Given the description of an element on the screen output the (x, y) to click on. 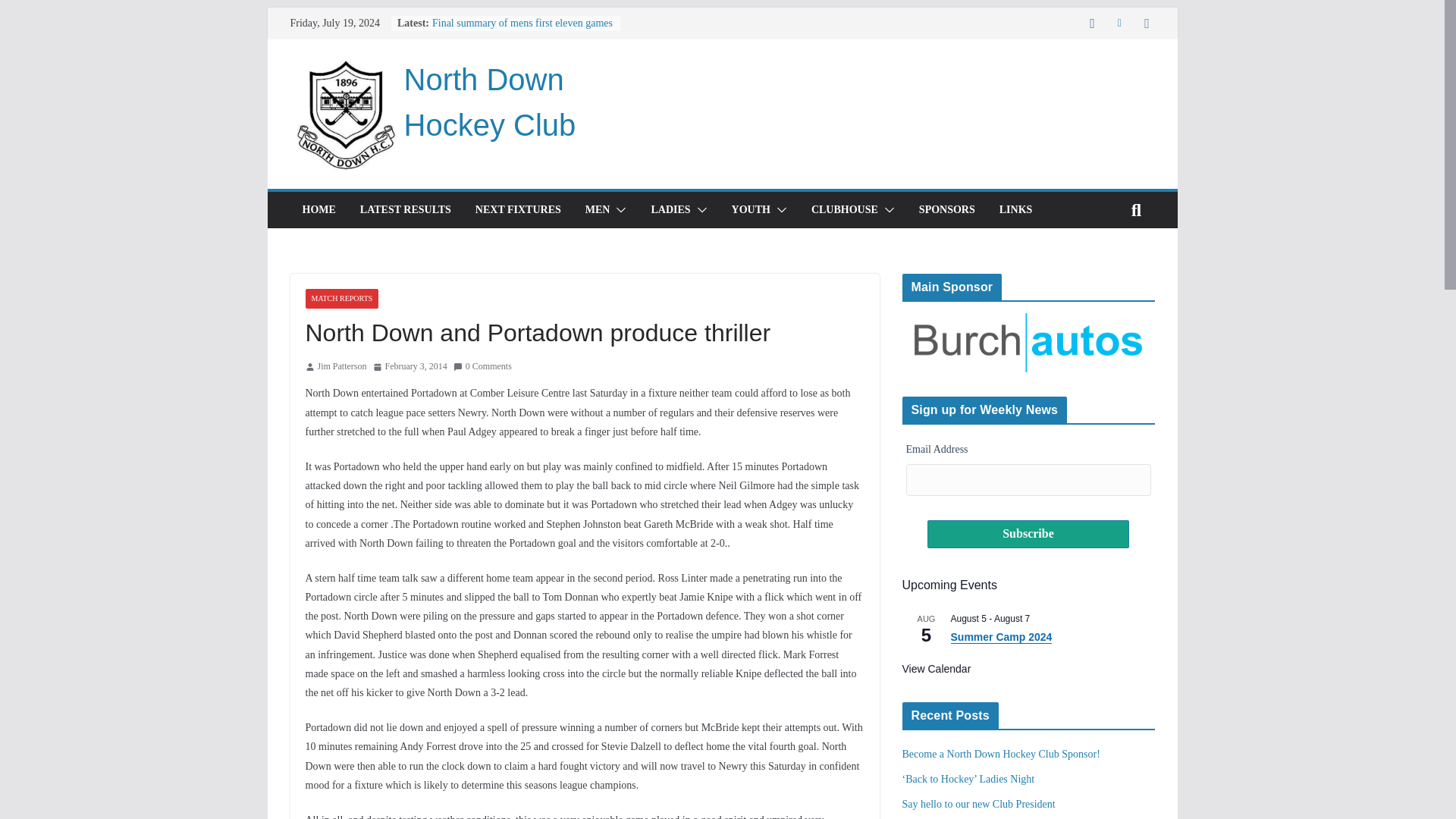
YOUTH (751, 209)
CLUBHOUSE (843, 209)
Summer Camp 2024 (1001, 636)
LATEST RESULTS (405, 209)
Subscribe (1028, 533)
HOME (317, 209)
Final summary of mens first eleven games (522, 22)
Final summary of mens first eleven games (522, 22)
Jim Patterson (341, 366)
2:24 pm (409, 366)
LADIES (670, 209)
NEXT FIXTURES (518, 209)
North Down Hockey Club (489, 102)
View more events. (936, 668)
